Given the description of an element on the screen output the (x, y) to click on. 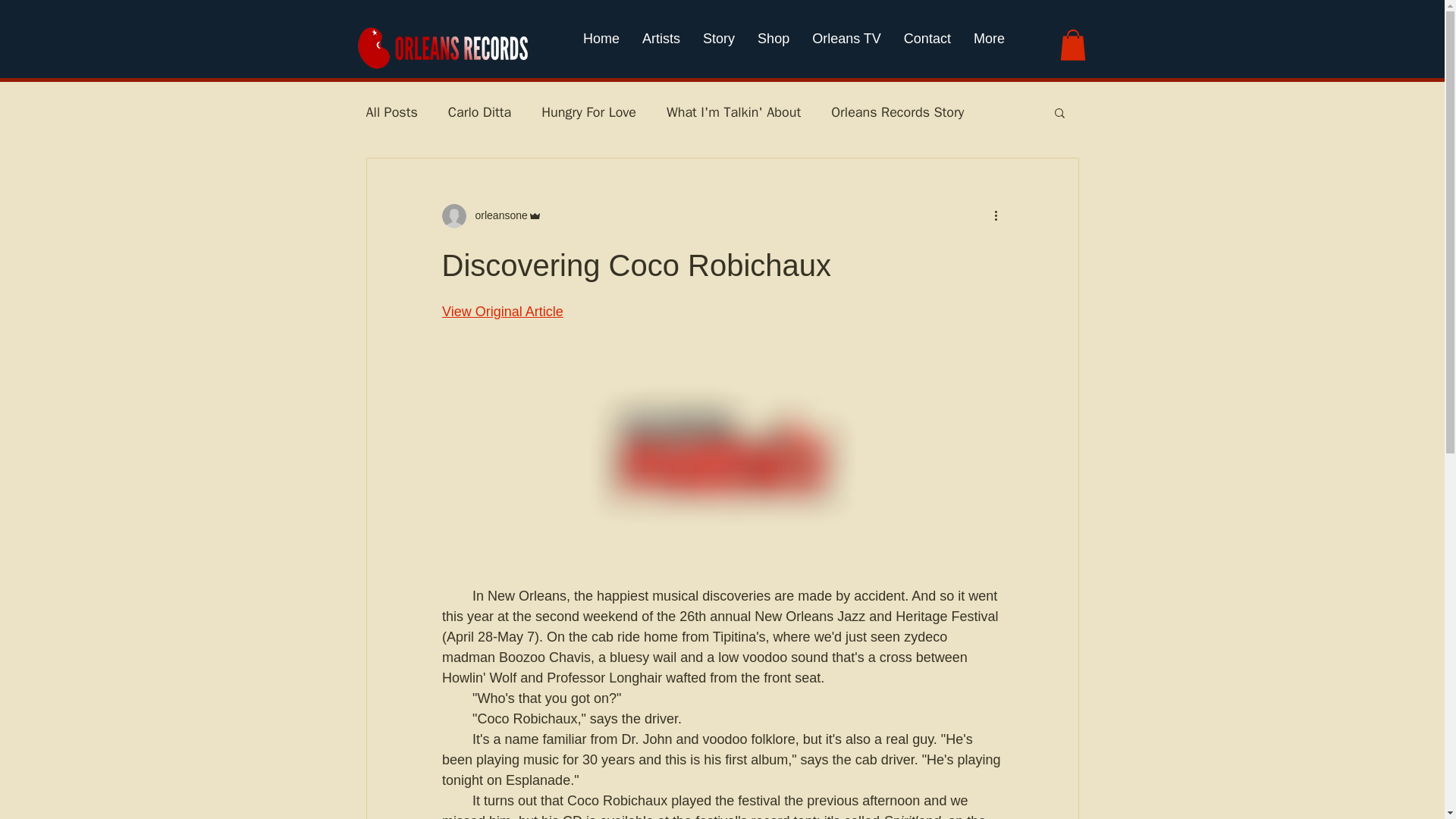
Contact (927, 46)
What I'm Talkin' About (733, 112)
All Posts (390, 112)
Hungry For Love (588, 112)
Orleans Records - Header.png (443, 47)
Story (718, 46)
Orleans Records Story (897, 112)
Carlo Ditta (479, 112)
Orleans TV (846, 46)
orleansone (496, 215)
